Given the description of an element on the screen output the (x, y) to click on. 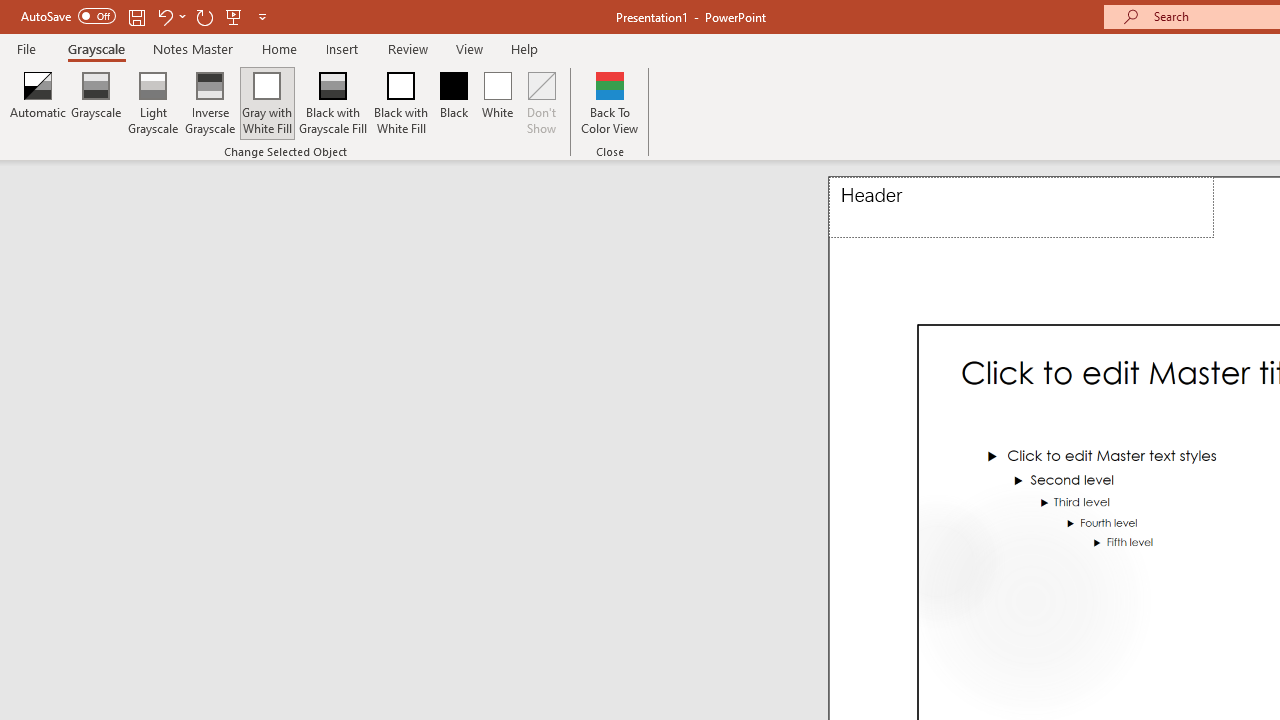
Header (1021, 207)
Notes Master (193, 48)
Grayscale (96, 48)
Inverse Grayscale (210, 102)
Light Grayscale (152, 102)
Black with Grayscale Fill (332, 102)
Don't Show (541, 102)
